Given the description of an element on the screen output the (x, y) to click on. 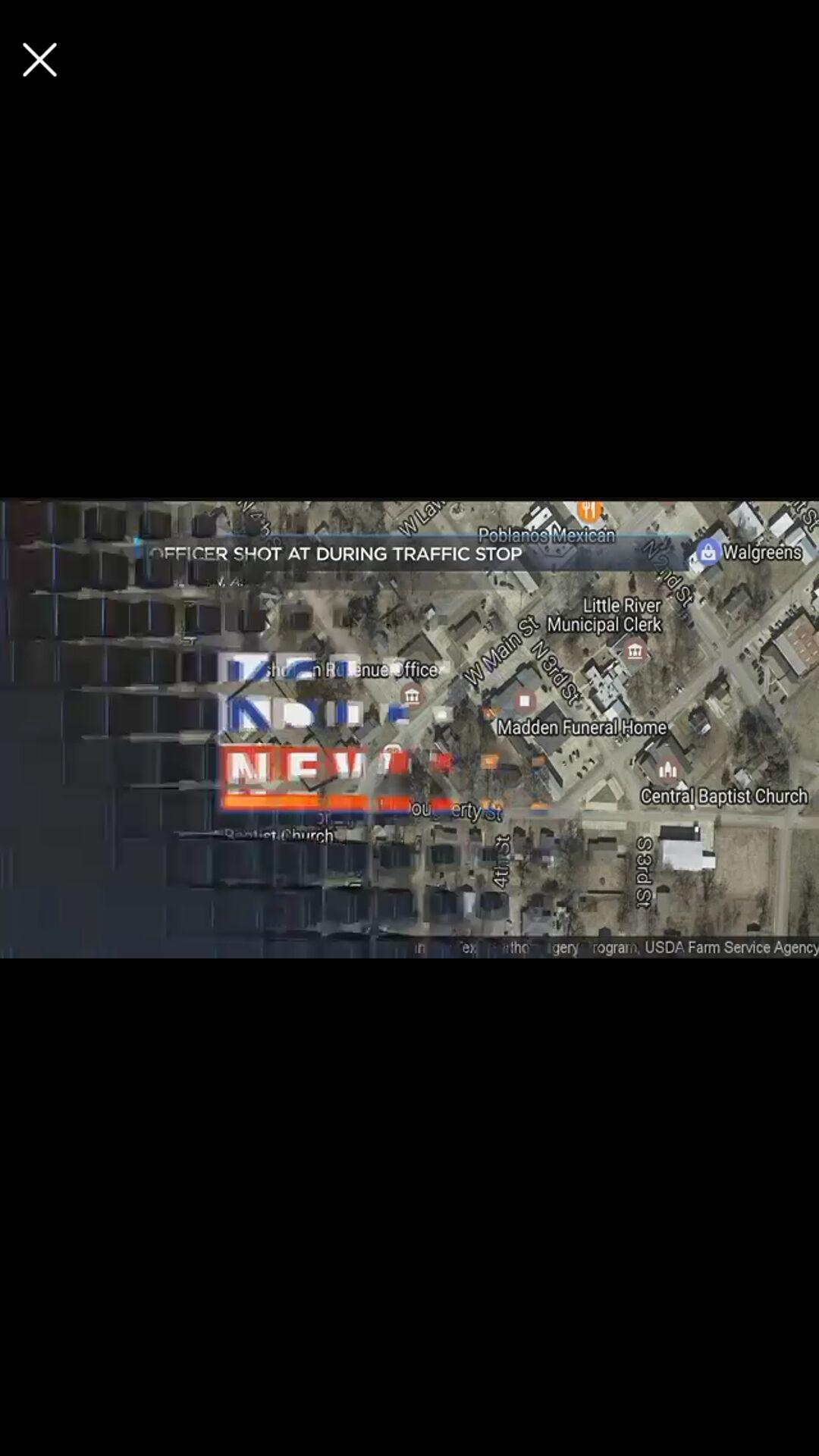
close advertisement (39, 59)
